Given the description of an element on the screen output the (x, y) to click on. 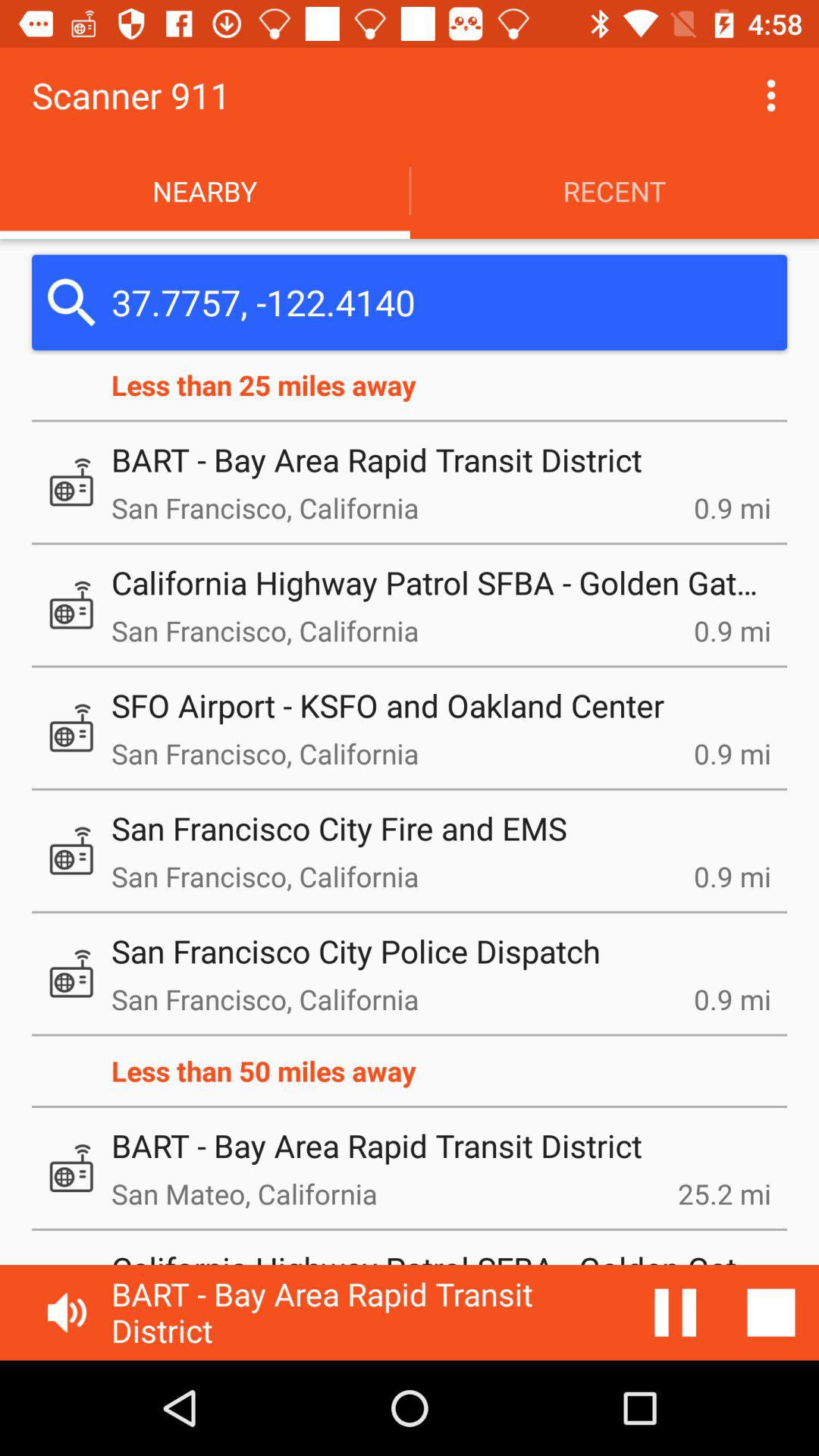
explore more options (771, 95)
